Given the description of an element on the screen output the (x, y) to click on. 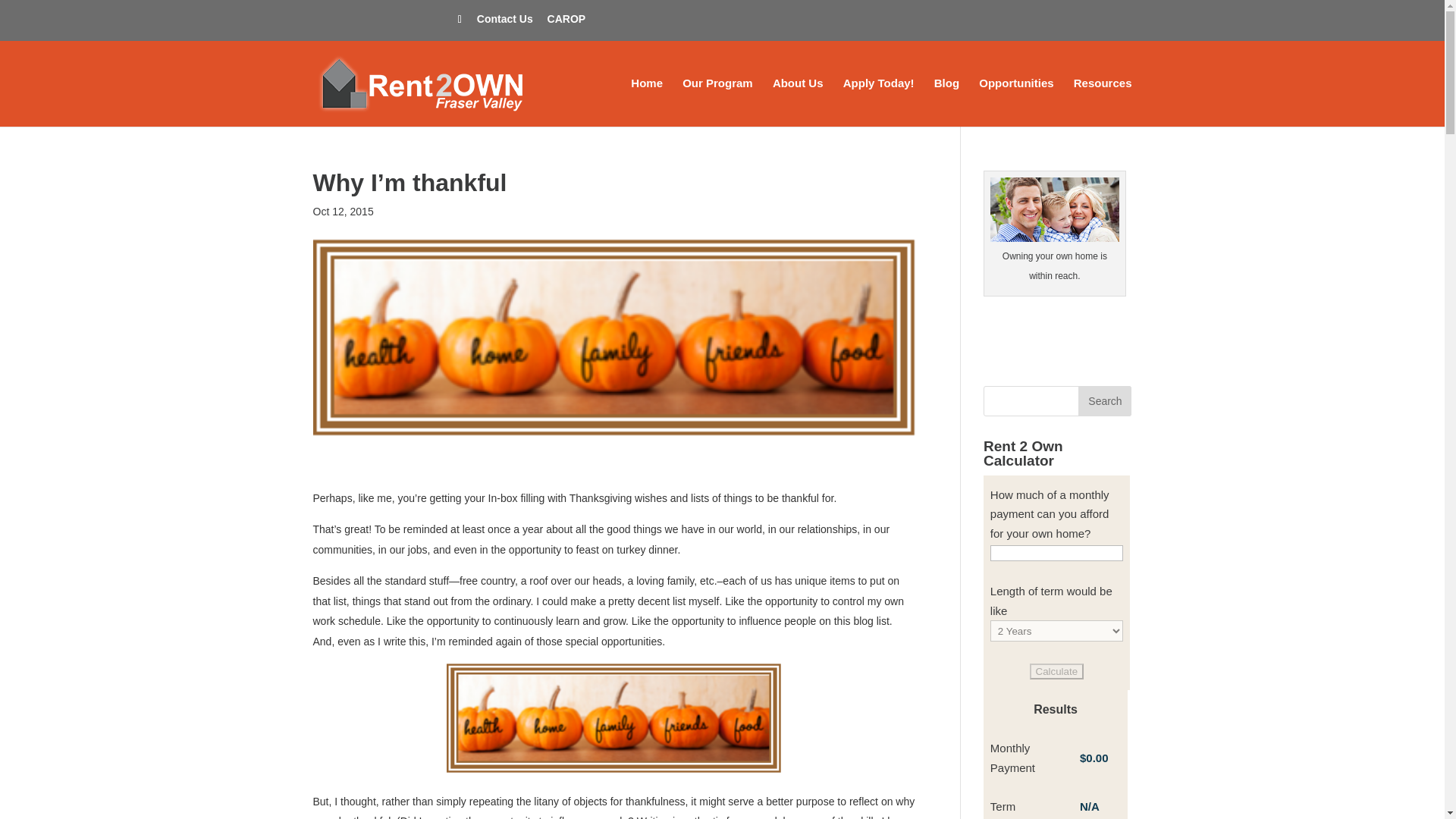
Opportunities (1015, 101)
About Us (798, 101)
Contact Us (504, 22)
Apply Today! (878, 101)
Search (1104, 400)
Our Program (717, 101)
Calculate (1056, 671)
Search (1104, 400)
CAROP (566, 22)
Resources (1103, 101)
Calculate (1056, 671)
